Given the description of an element on the screen output the (x, y) to click on. 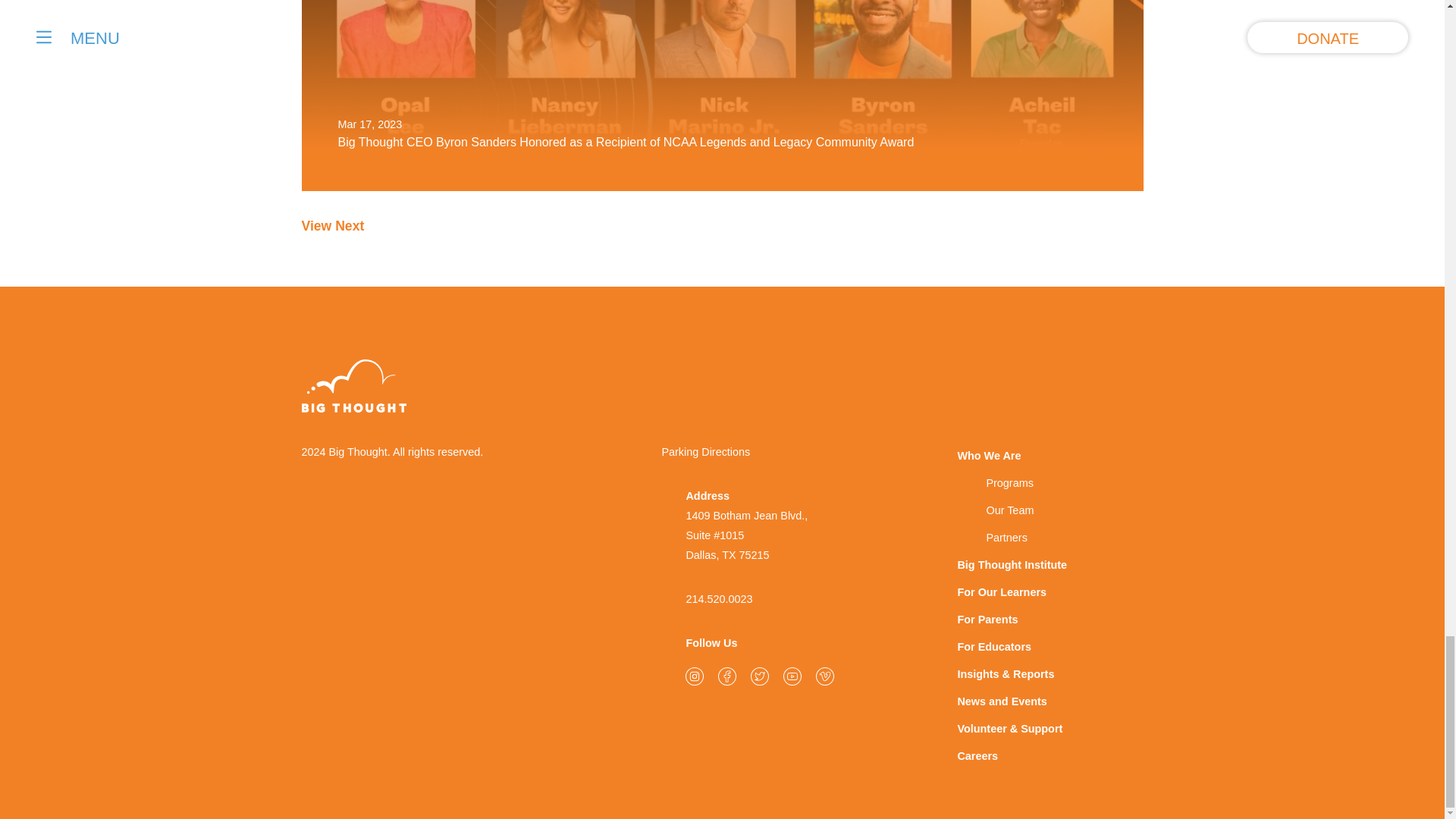
YouTube (792, 676)
News and Events (1045, 701)
214.520.0023 (718, 598)
Partners (1045, 538)
For Parents (1045, 619)
For Educators (1045, 646)
Who We Are (1045, 456)
Facebook (726, 676)
Our Team (1045, 510)
Vimeo (824, 676)
Careers (1045, 756)
Programs (1045, 483)
View Next (333, 225)
Big Thought Institute (1045, 565)
